Given the description of an element on the screen output the (x, y) to click on. 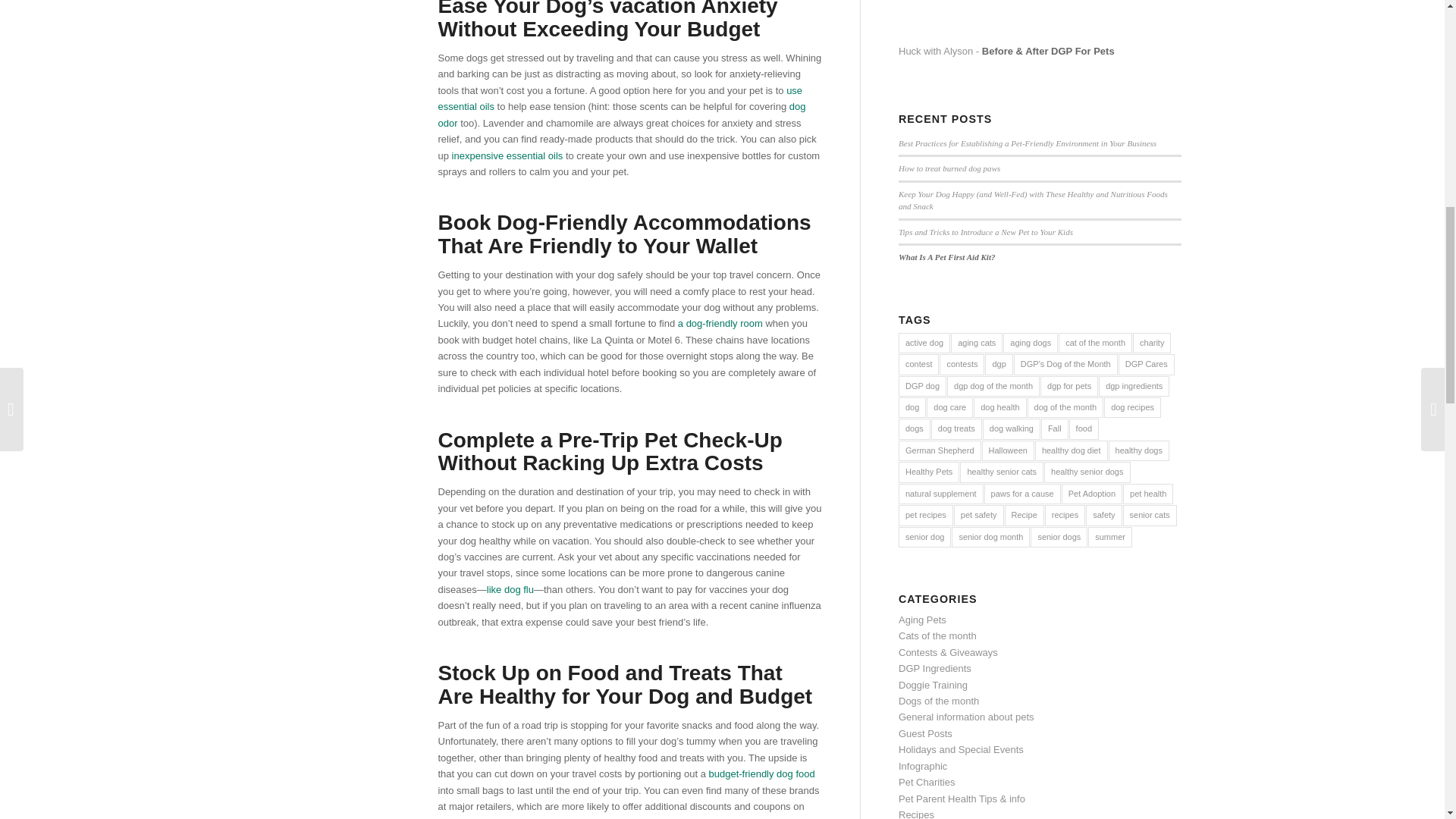
dog odor (622, 113)
inexpensive essential oils (507, 155)
a dog-friendly room (720, 323)
use essential oils (620, 98)
budget-friendly dog food (760, 773)
like dog flu (510, 589)
